Given the description of an element on the screen output the (x, y) to click on. 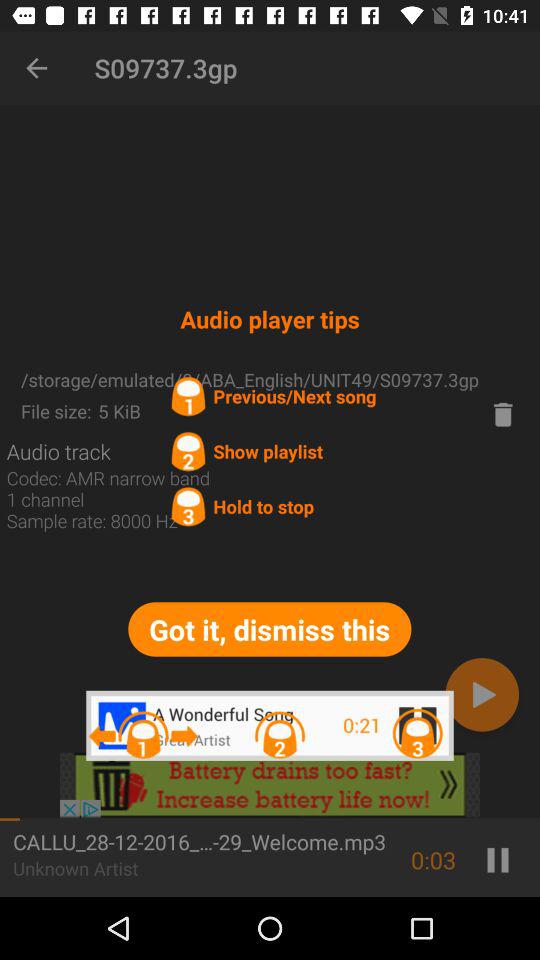
launch the icon above storage emulated 0 item (36, 68)
